Given the description of an element on the screen output the (x, y) to click on. 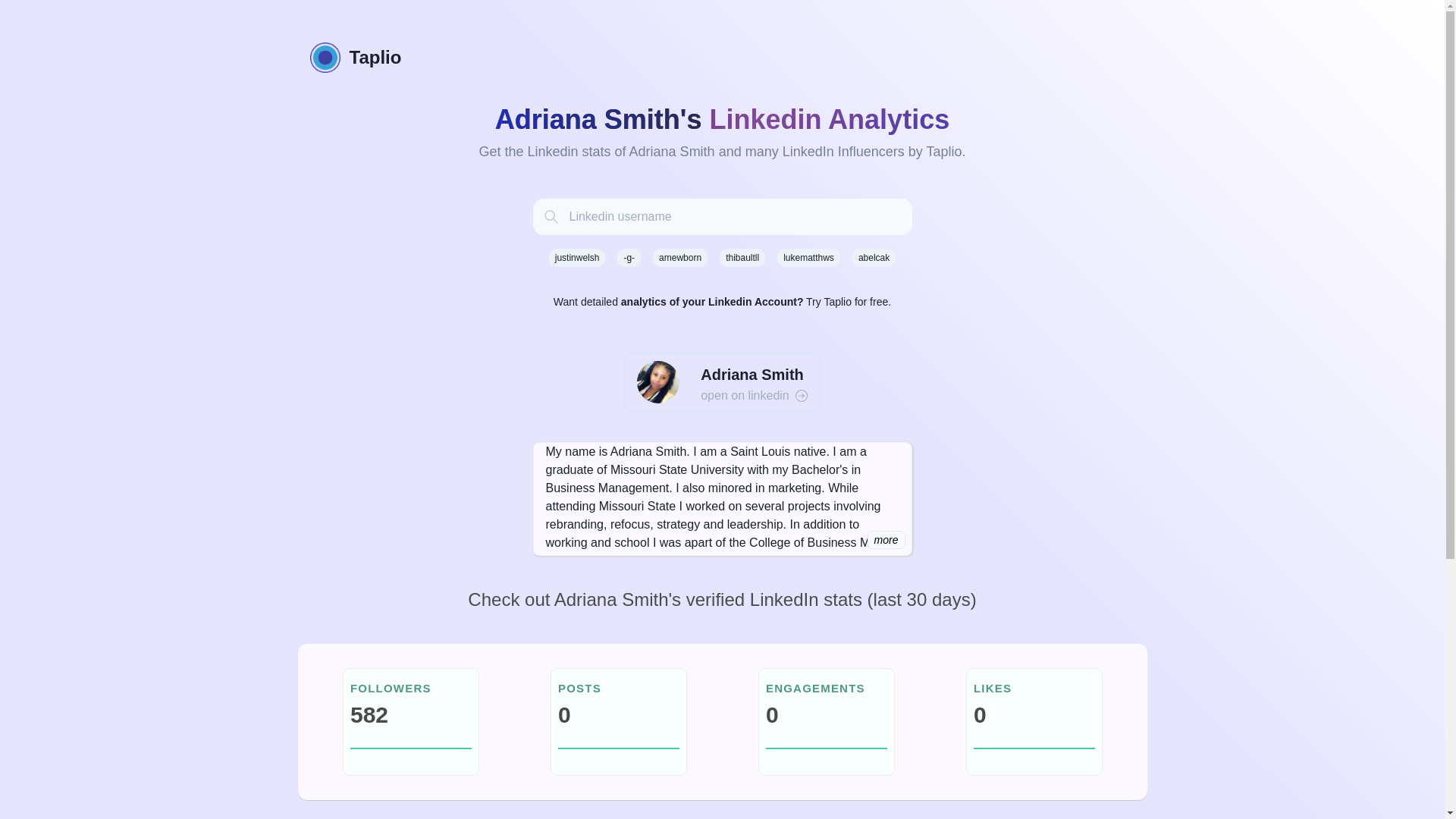
justinwelsh (576, 257)
-g- (628, 257)
lukematthws (808, 257)
abelcak (873, 257)
amewborn (679, 257)
open on linkedin (754, 395)
LinkedIn Influencers (843, 151)
more (886, 539)
Taplio (721, 57)
